Given the description of an element on the screen output the (x, y) to click on. 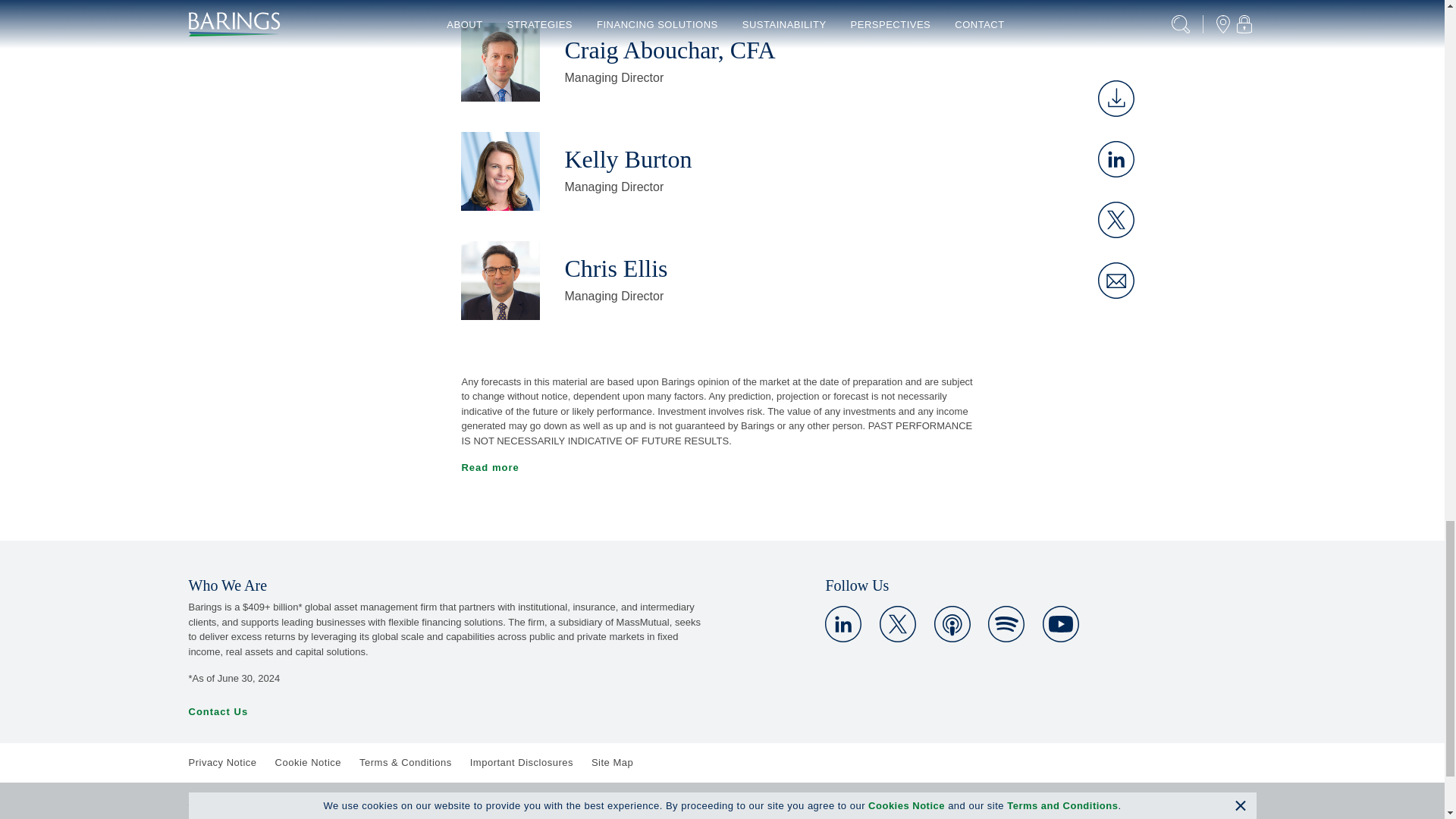
Cookie Notice (307, 762)
Twitter (897, 624)
Learn More (1060, 624)
Site Map (612, 762)
Privacy Notice (221, 762)
